Given the description of an element on the screen output the (x, y) to click on. 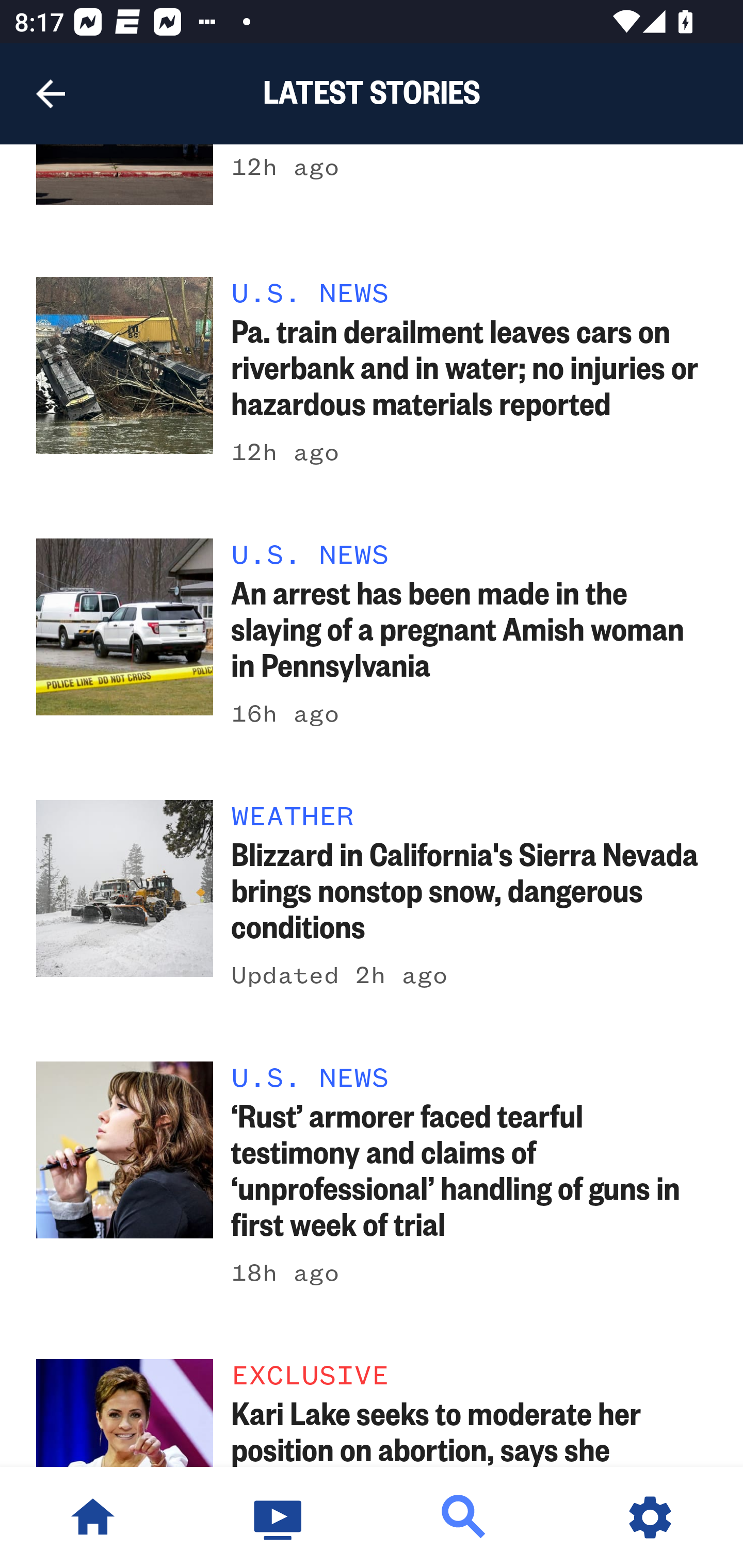
Navigate up (50, 93)
NBC News Home (92, 1517)
Watch (278, 1517)
Settings (650, 1517)
